Given the description of an element on the screen output the (x, y) to click on. 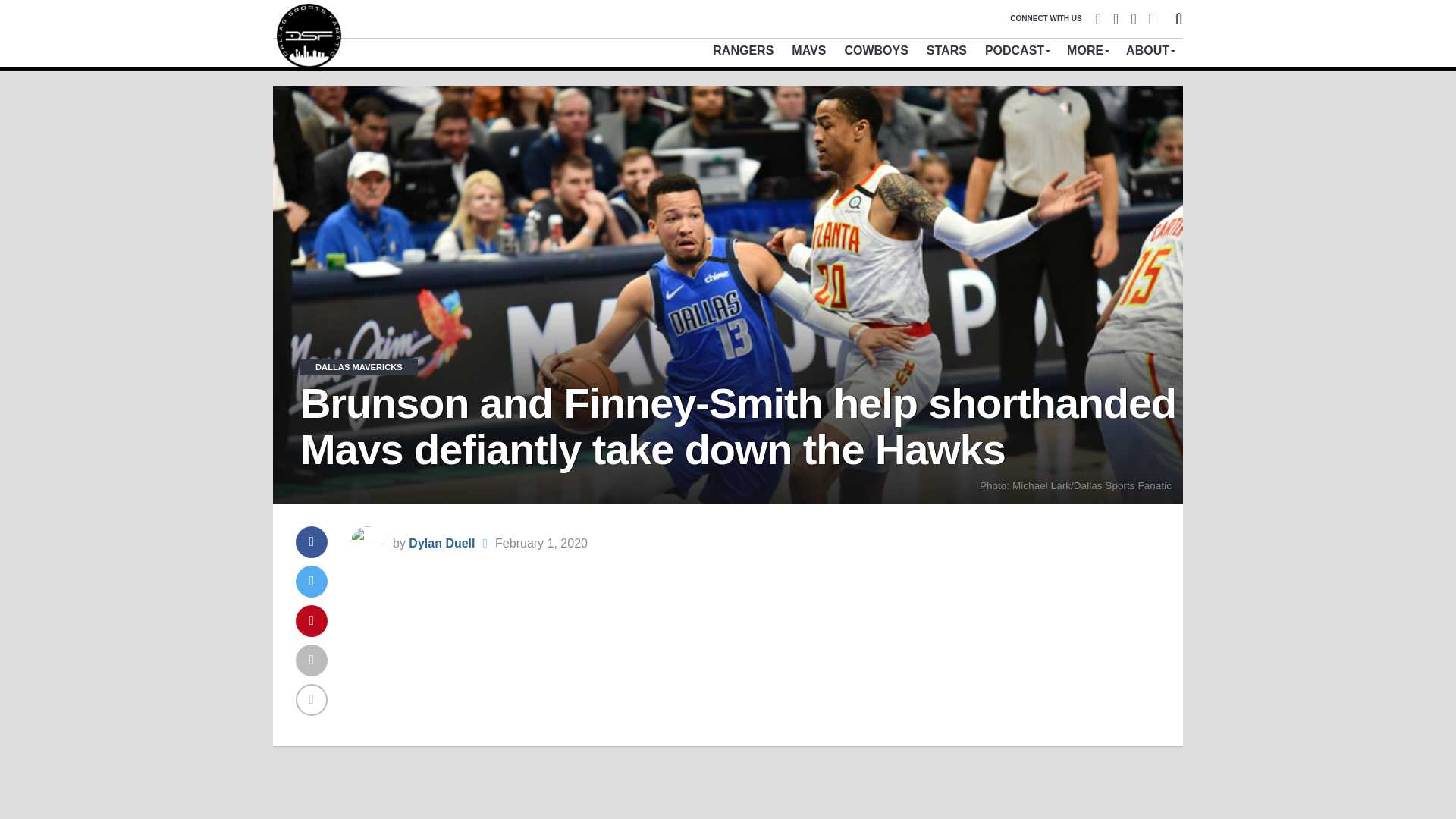
Posts by Dylan Duell (441, 543)
MAVS (808, 50)
RANGERS (743, 50)
